Given the description of an element on the screen output the (x, y) to click on. 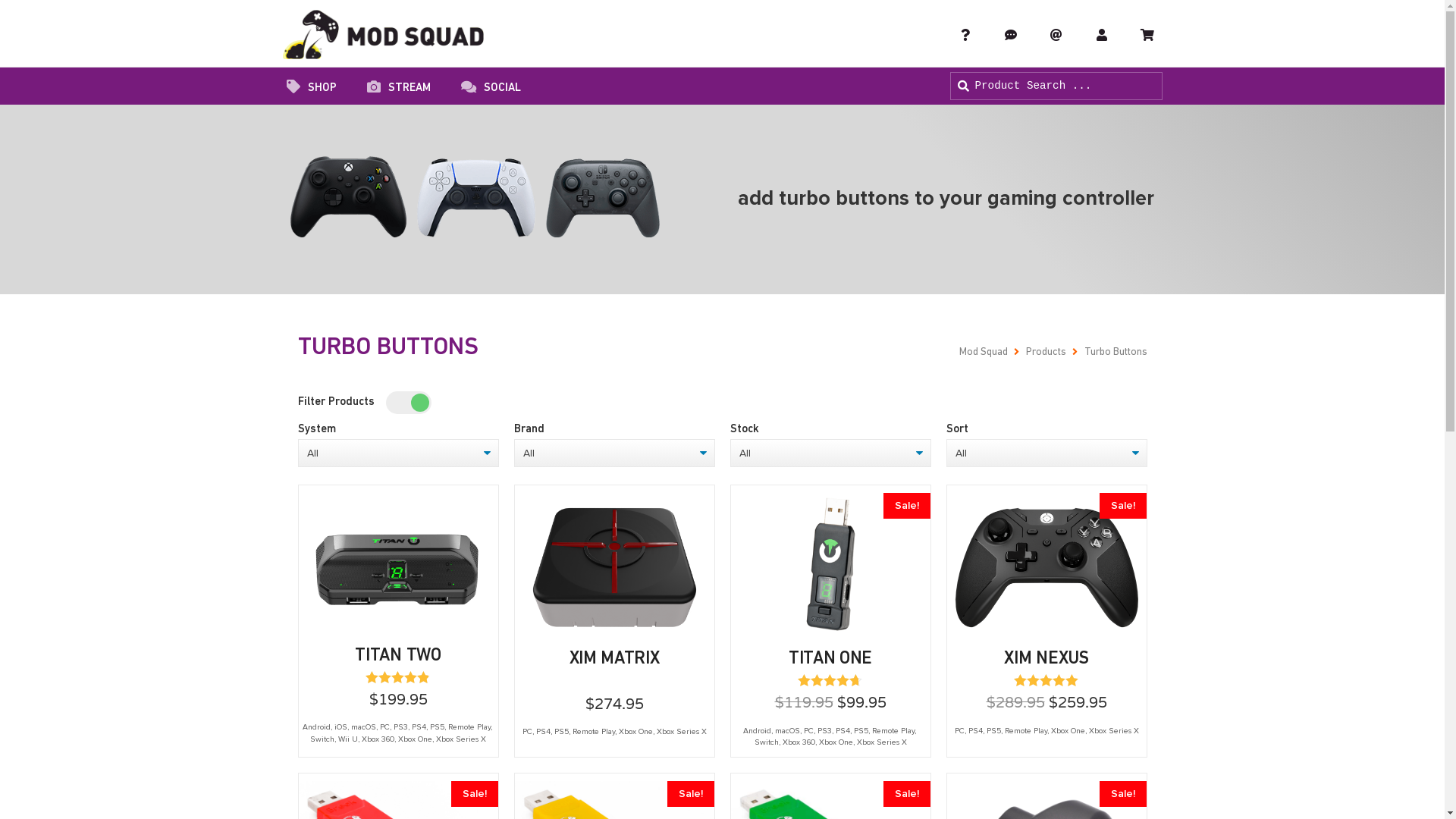
XIM NEXUS Element type: text (1046, 658)
XIM MATRIX Element type: text (613, 658)
Remote Play Element type: text (468, 727)
PC Element type: text (384, 727)
PS5 Element type: text (860, 730)
macOS Element type: text (787, 730)
PS5 Element type: text (992, 730)
PS4 Element type: text (542, 731)
Xbox One Element type: text (635, 731)
PC Element type: text (958, 730)
PS5 Element type: text (560, 731)
PC Element type: text (526, 731)
Remote Play Element type: text (893, 730)
Xbox Series X Element type: text (881, 742)
Remote Play Element type: text (1025, 730)
PS4 Element type: text (842, 730)
PS4 Element type: text (418, 727)
Android Element type: text (315, 727)
STREAM Element type: text (398, 89)
Xbox Series X Element type: text (1113, 730)
Mod Squad Element type: text (982, 352)
Switch Element type: text (765, 742)
Xbox One Element type: text (415, 739)
Xbox One Element type: text (836, 742)
PC Element type: text (808, 730)
Wii U Element type: text (347, 739)
Xbox 360 Element type: text (377, 739)
PS4 Element type: text (974, 730)
PS3 Element type: text (399, 727)
Xbox Series X Element type: text (681, 731)
Xbox 360 Element type: text (798, 742)
Remote Play Element type: text (592, 731)
SHOP Element type: text (311, 89)
TITAN ONE Element type: text (830, 658)
Xbox One Element type: text (1068, 730)
Android Element type: text (757, 730)
SOCIAL Element type: text (490, 89)
Products Element type: text (1045, 352)
TITAN TWO Element type: text (397, 655)
PS5 Element type: text (436, 727)
macOS Element type: text (362, 727)
PS3 Element type: text (824, 730)
Xbox Series X Element type: text (461, 739)
iOS Element type: text (339, 727)
Switch Element type: text (322, 739)
